Given the description of an element on the screen output the (x, y) to click on. 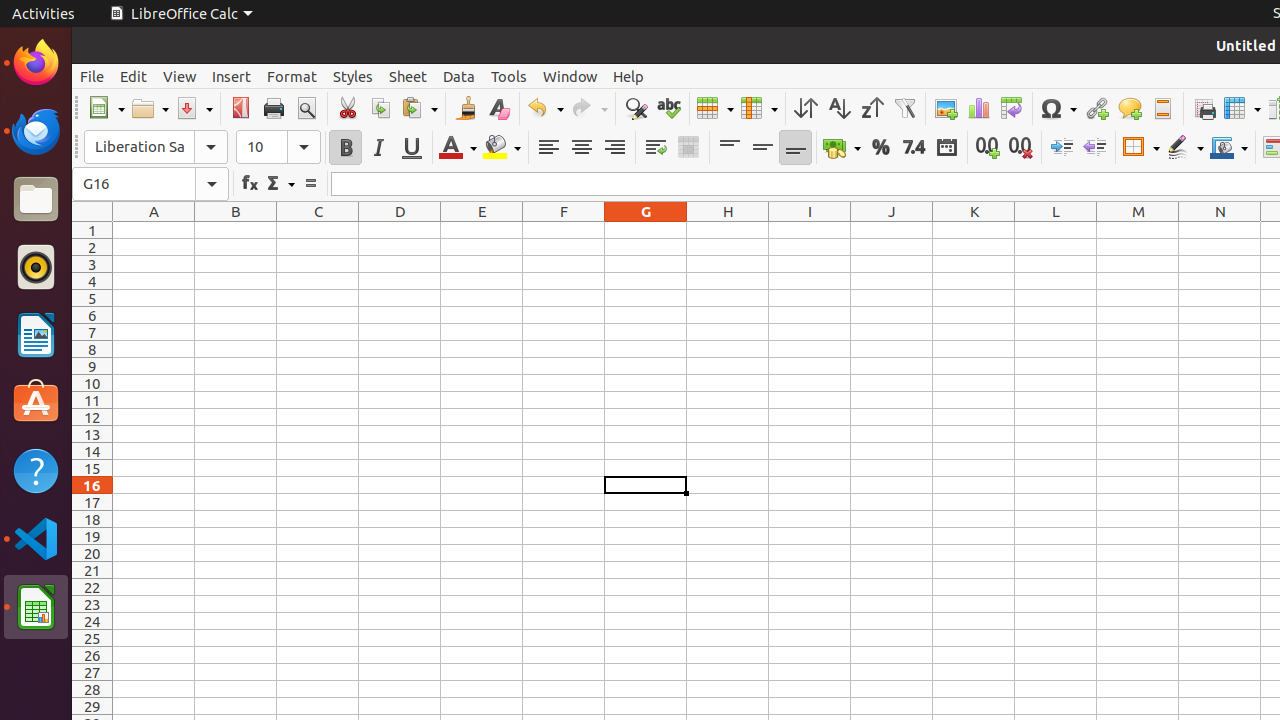
Clone Element type: push-button (465, 108)
Print Area Element type: push-button (1203, 108)
Row Element type: push-button (715, 108)
Align Bottom Element type: push-button (795, 147)
E1 Element type: table-cell (482, 230)
